Given the description of an element on the screen output the (x, y) to click on. 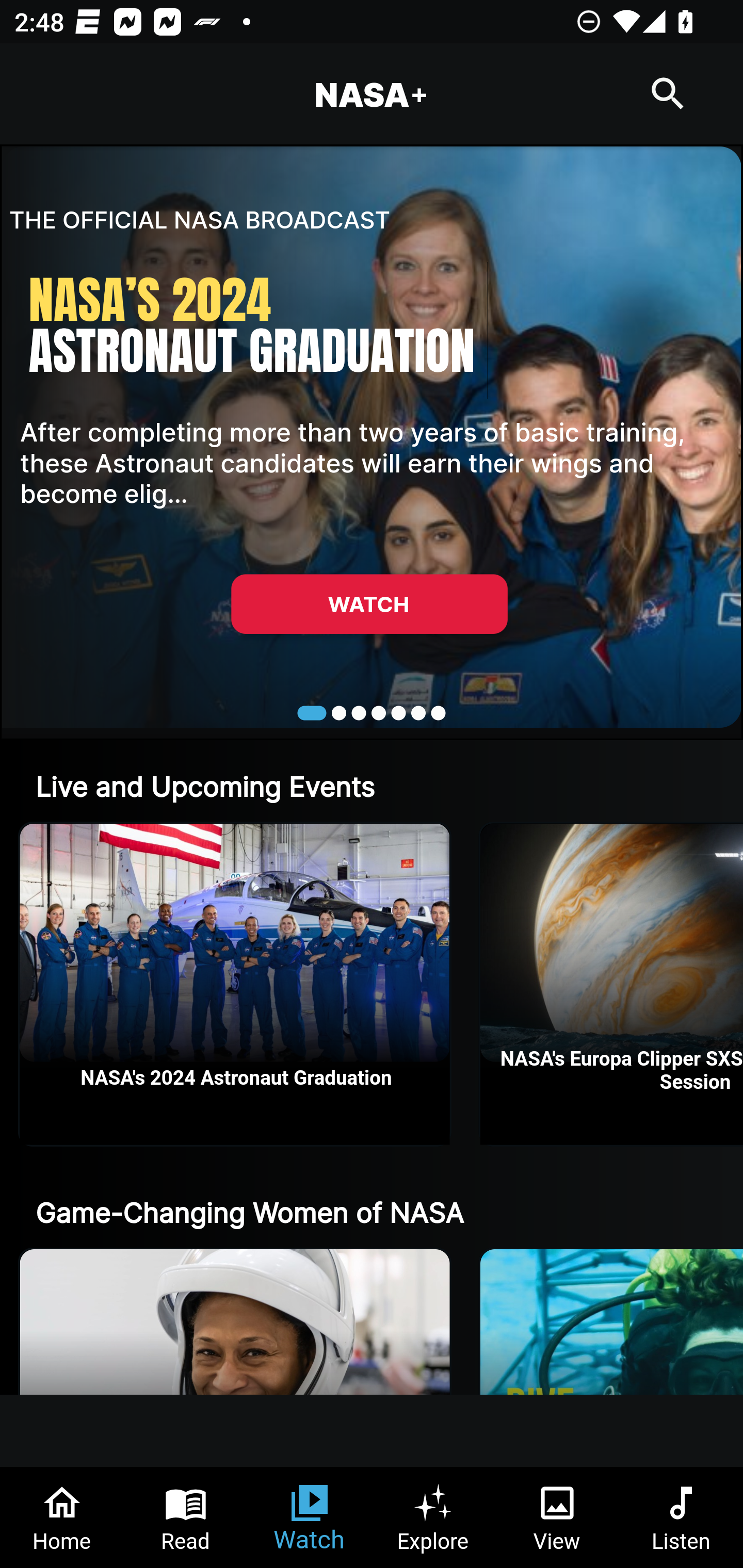
WATCH (369, 603)
NASA's 2024 Astronaut Graduation (235, 983)
NASA's Europa Clipper SXSW 2024 Opening Session (611, 983)
Home
Tab 1 of 6 (62, 1517)
Read
Tab 2 of 6 (185, 1517)
Watch
Tab 3 of 6 (309, 1517)
Explore
Tab 4 of 6 (433, 1517)
View
Tab 5 of 6 (556, 1517)
Listen
Tab 6 of 6 (680, 1517)
